Given the description of an element on the screen output the (x, y) to click on. 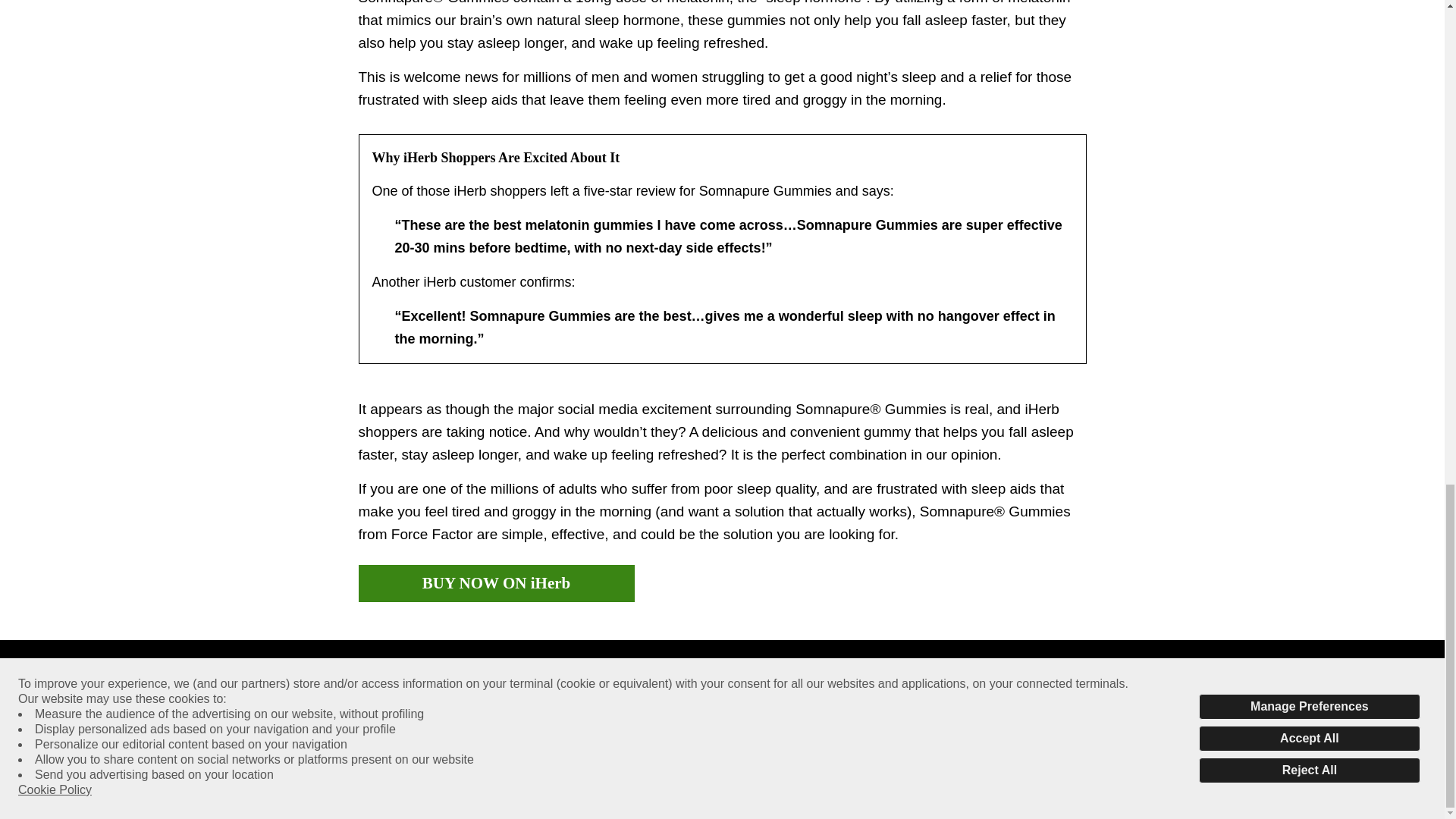
Privacy Policy (562, 751)
BUY NOW ON iHerb (495, 583)
